Given the description of an element on the screen output the (x, y) to click on. 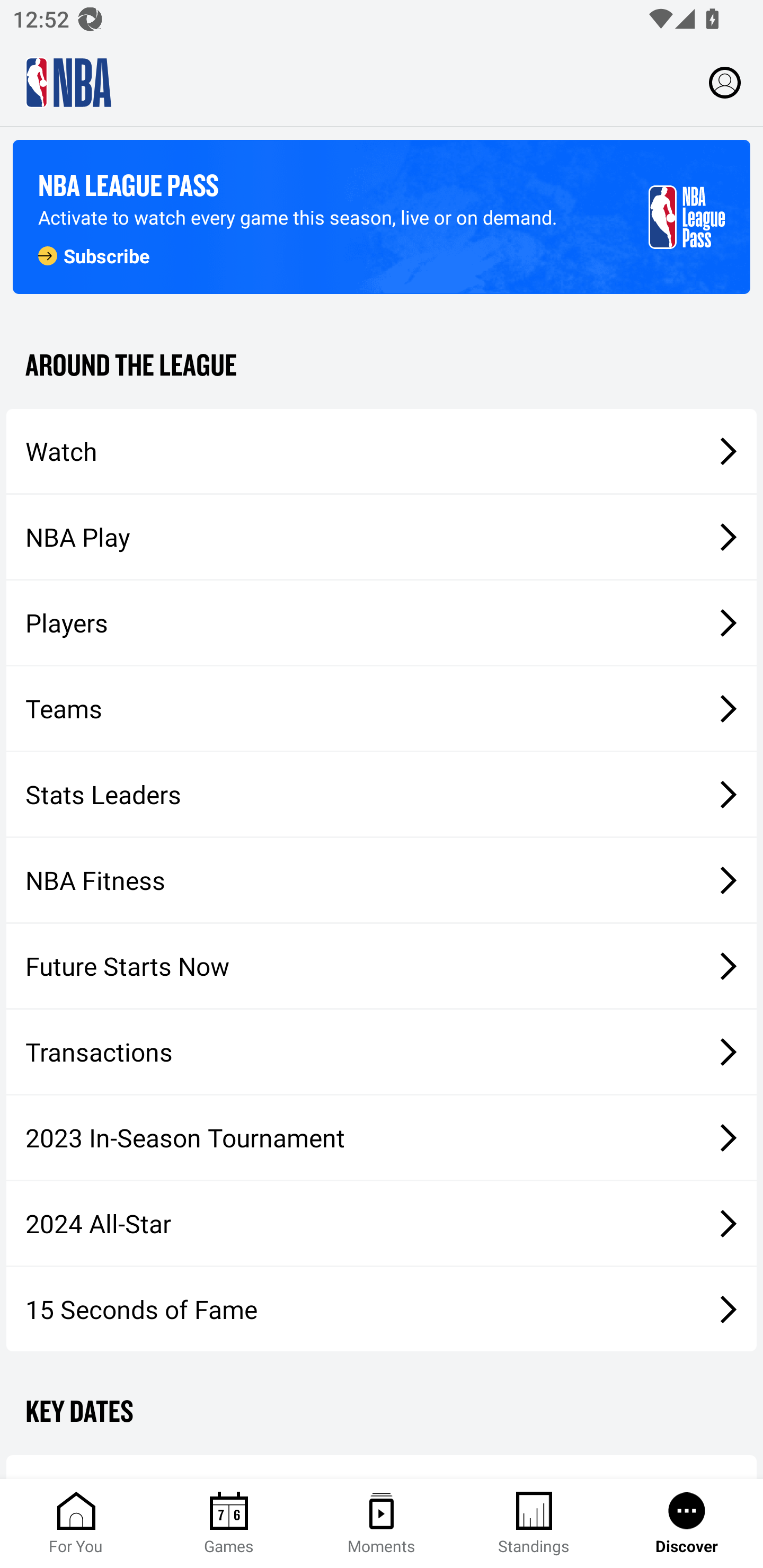
Profile (724, 81)
Watch (381, 451)
NBA Play (381, 536)
Players (381, 622)
Teams (381, 708)
Stats Leaders (381, 793)
NBA Fitness (381, 879)
Future Starts Now (381, 965)
Transactions (381, 1051)
2023 In-Season Tournament (381, 1137)
2024 All-Star (381, 1222)
15 Seconds of Fame (381, 1308)
For You (76, 1523)
Games (228, 1523)
Moments (381, 1523)
Standings (533, 1523)
